Given the description of an element on the screen output the (x, y) to click on. 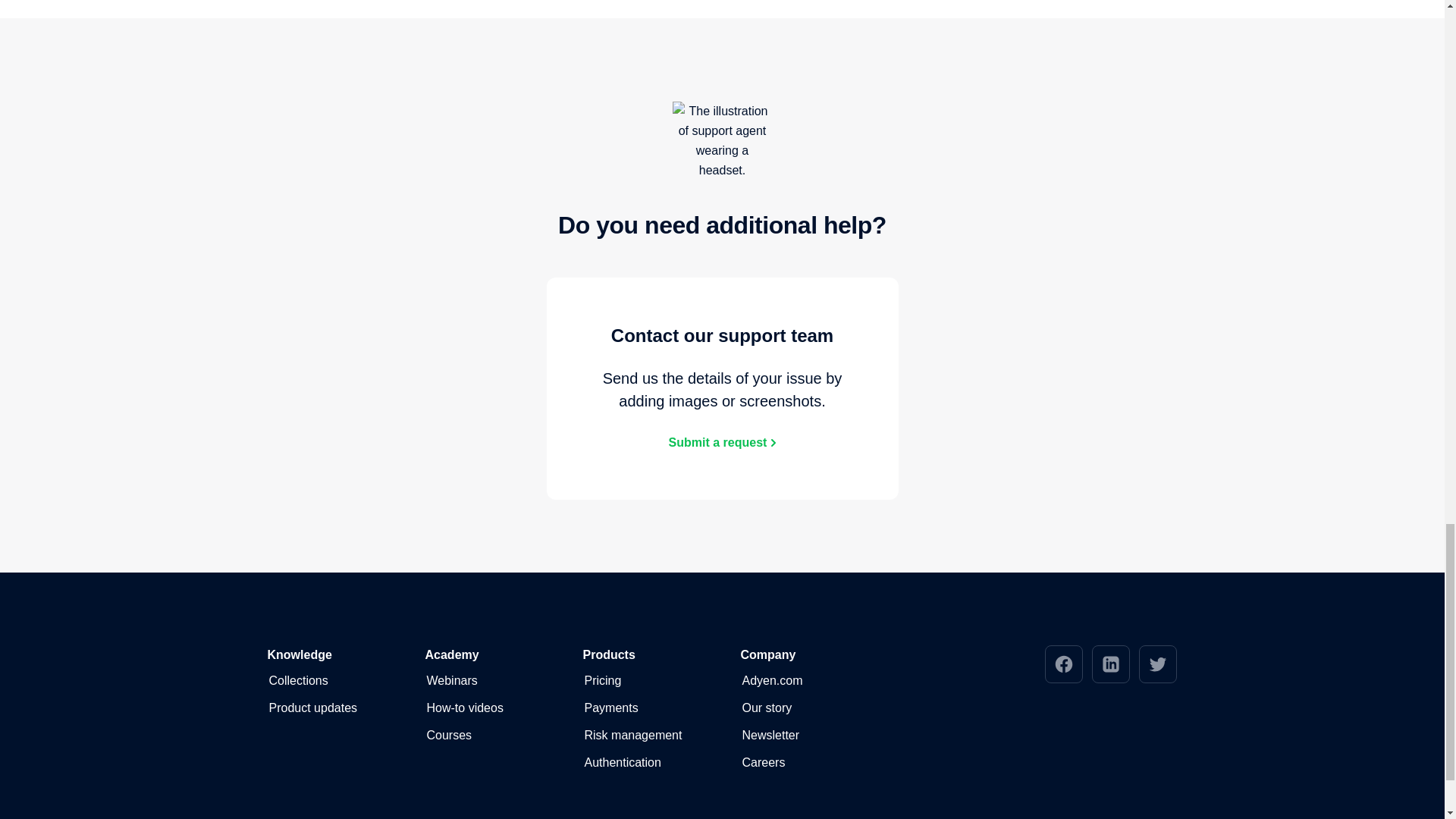
Adyen.com (771, 680)
Product updates (312, 707)
How-to videos (464, 707)
Courses (449, 734)
Risk management (632, 734)
Webinars (452, 680)
Submit a request (721, 442)
Pricing (602, 680)
Collections (297, 680)
Newsletter (769, 734)
Our story (766, 707)
Payments (610, 707)
Careers (762, 762)
Authentication (622, 762)
